Given the description of an element on the screen output the (x, y) to click on. 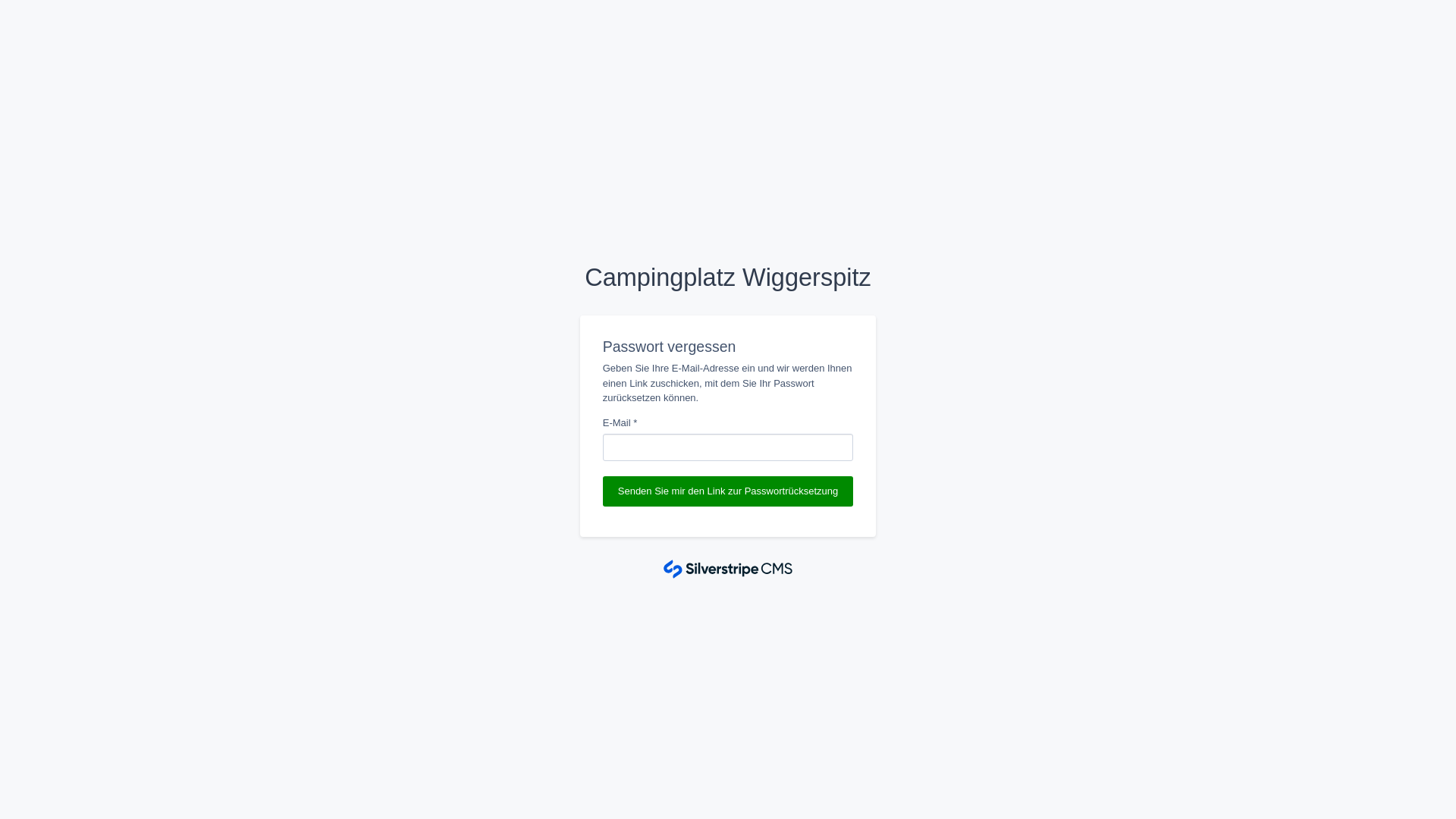
Campingplatz Wiggerspitz Element type: text (727, 277)
